Given the description of an element on the screen output the (x, y) to click on. 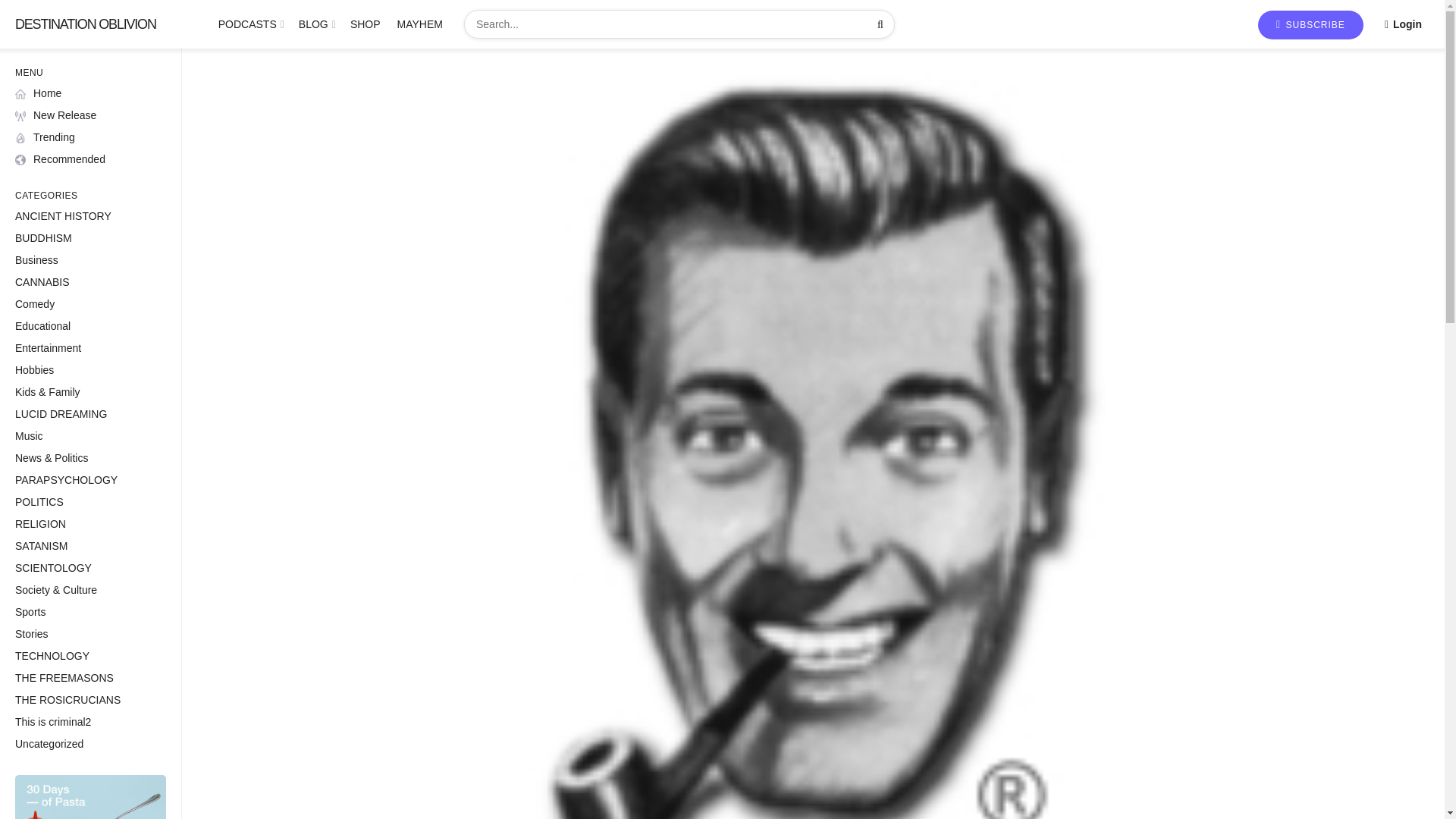
LUCID DREAMING (60, 414)
Music (28, 436)
BUDDHISM (42, 238)
Uncategorized (48, 744)
Recommended (59, 159)
Comedy (34, 304)
Stories (31, 634)
Entertainment (47, 348)
Educational (41, 326)
RELIGION (39, 524)
